Given the description of an element on the screen output the (x, y) to click on. 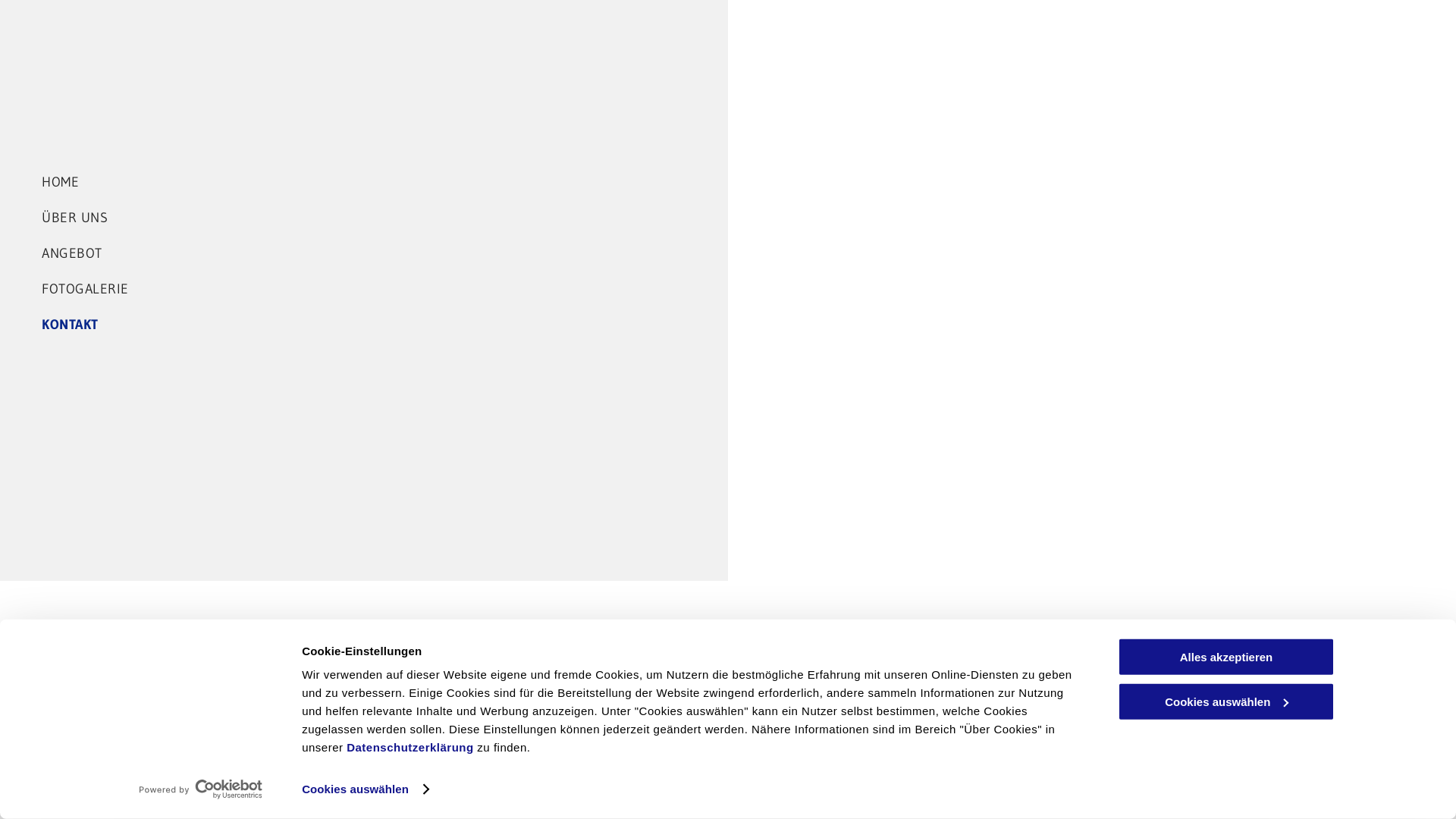
HOME Element type: text (405, 183)
KONTAKT Element type: text (405, 326)
Alles akzeptieren Element type: text (1225, 656)
ANGEBOT Element type: text (405, 255)
FOTOGALERIE Element type: text (405, 290)
